Given the description of an element on the screen output the (x, y) to click on. 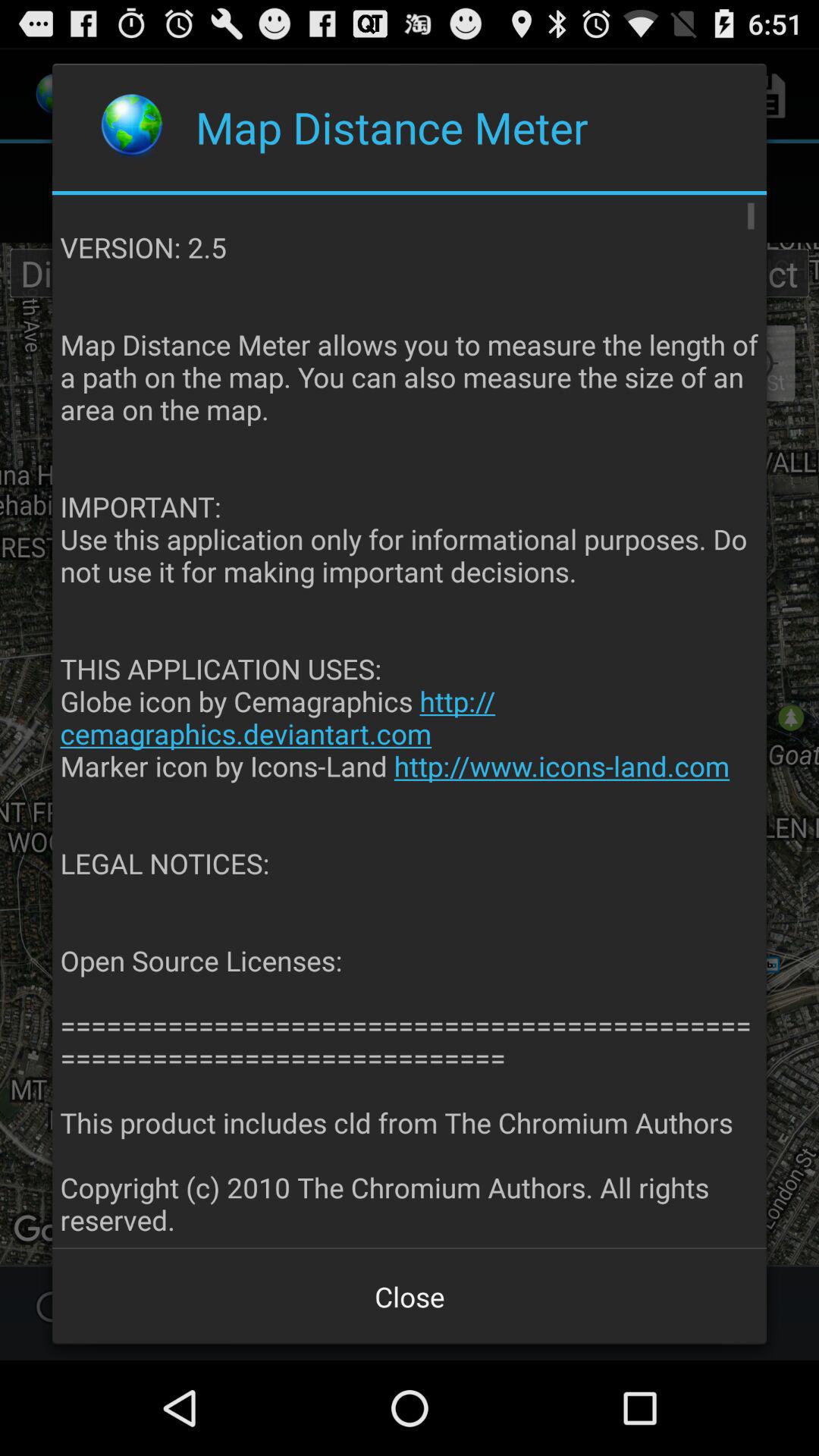
select the app below the version 2 5 (409, 1296)
